Given the description of an element on the screen output the (x, y) to click on. 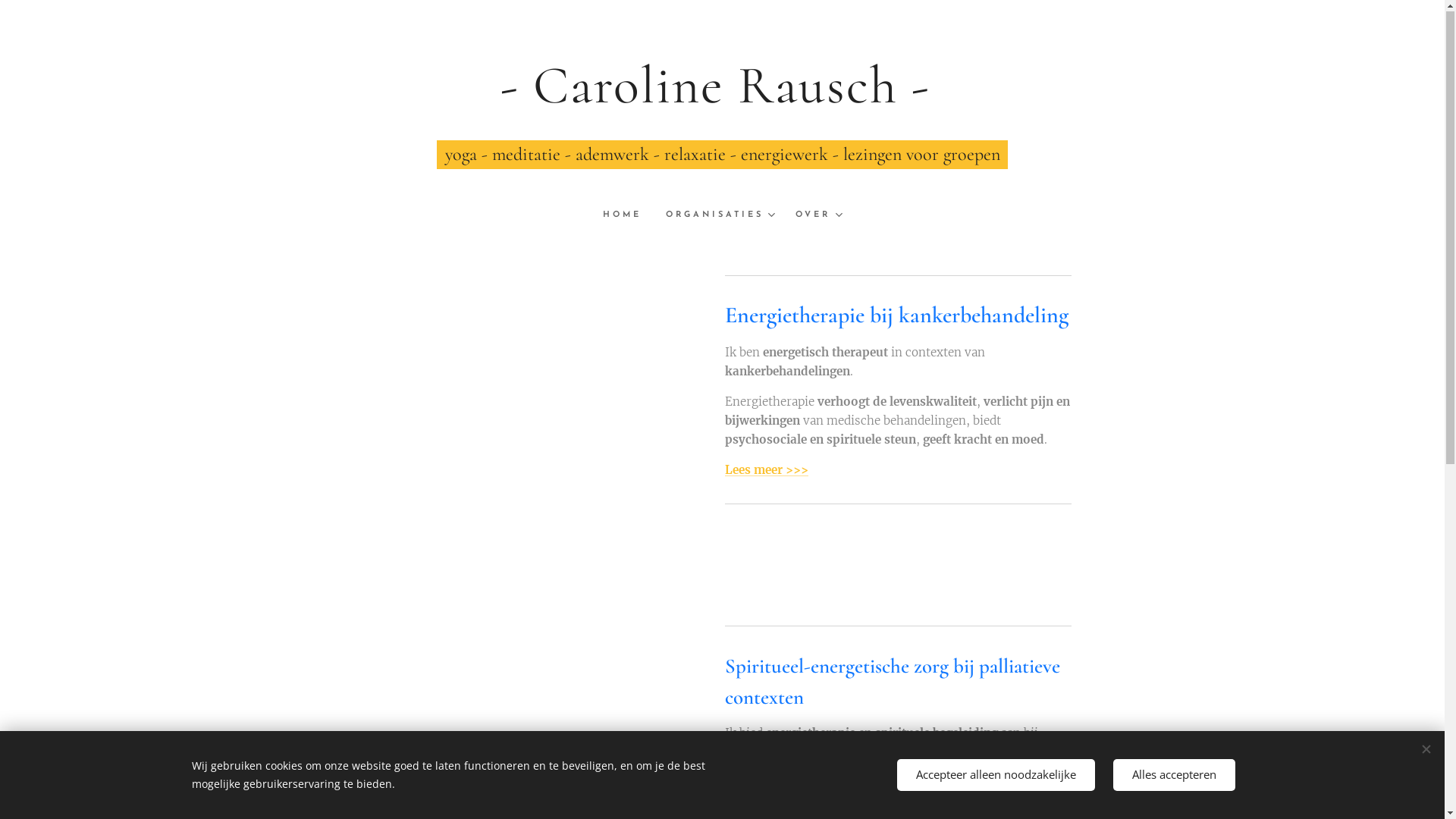
Accepteer alleen noodzakelijke Element type: text (995, 774)
- Caroline Rausch -  Element type: text (721, 86)
Alles accepteren Element type: text (1174, 774)
OVER Element type: text (811, 216)
Lees meer >>> Element type: text (765, 470)
HOME Element type: text (627, 216)
ORGANISATIES Element type: text (718, 216)
